Given the description of an element on the screen output the (x, y) to click on. 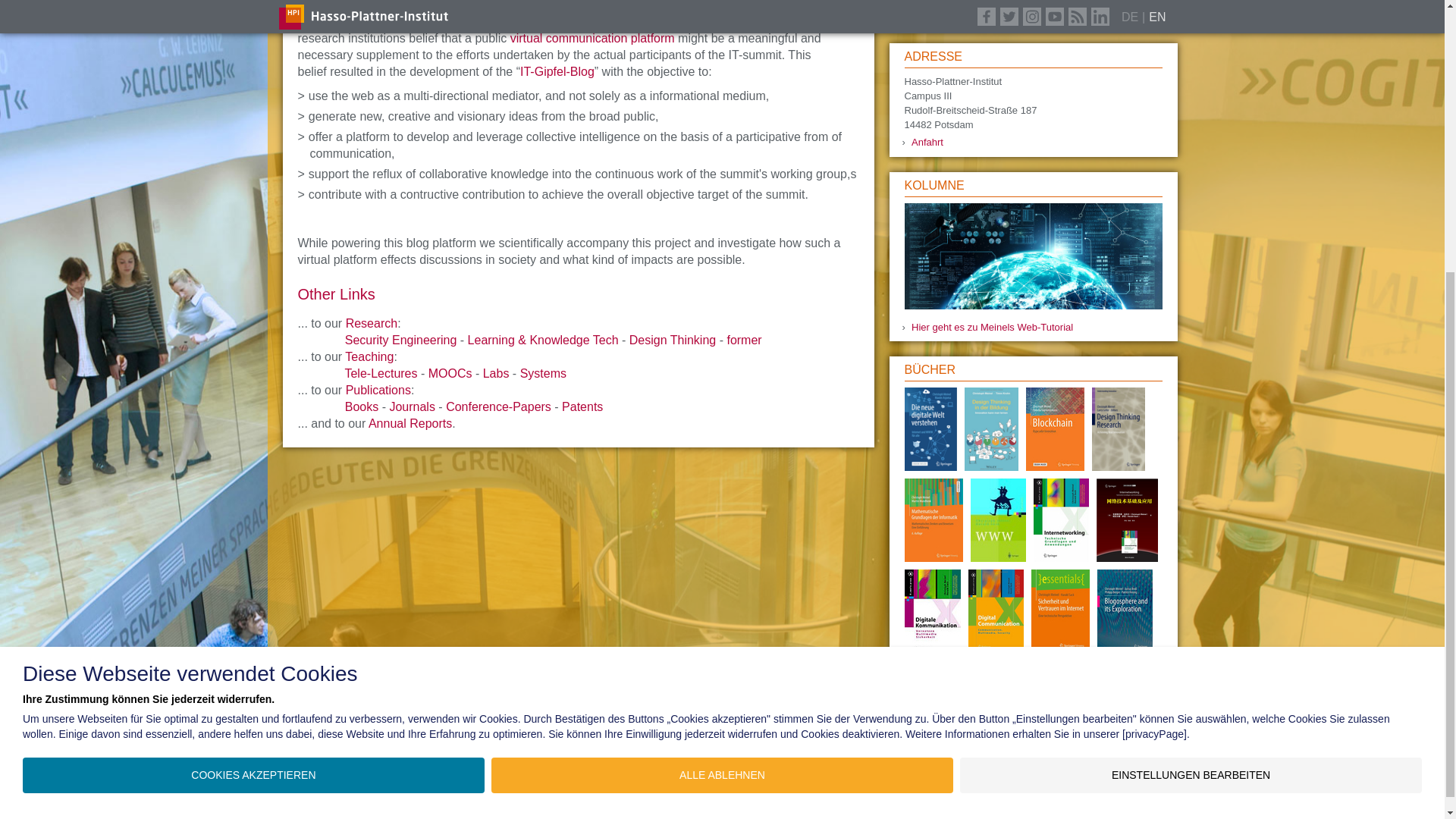
Opens internal link in current window (590, 38)
